Given the description of an element on the screen output the (x, y) to click on. 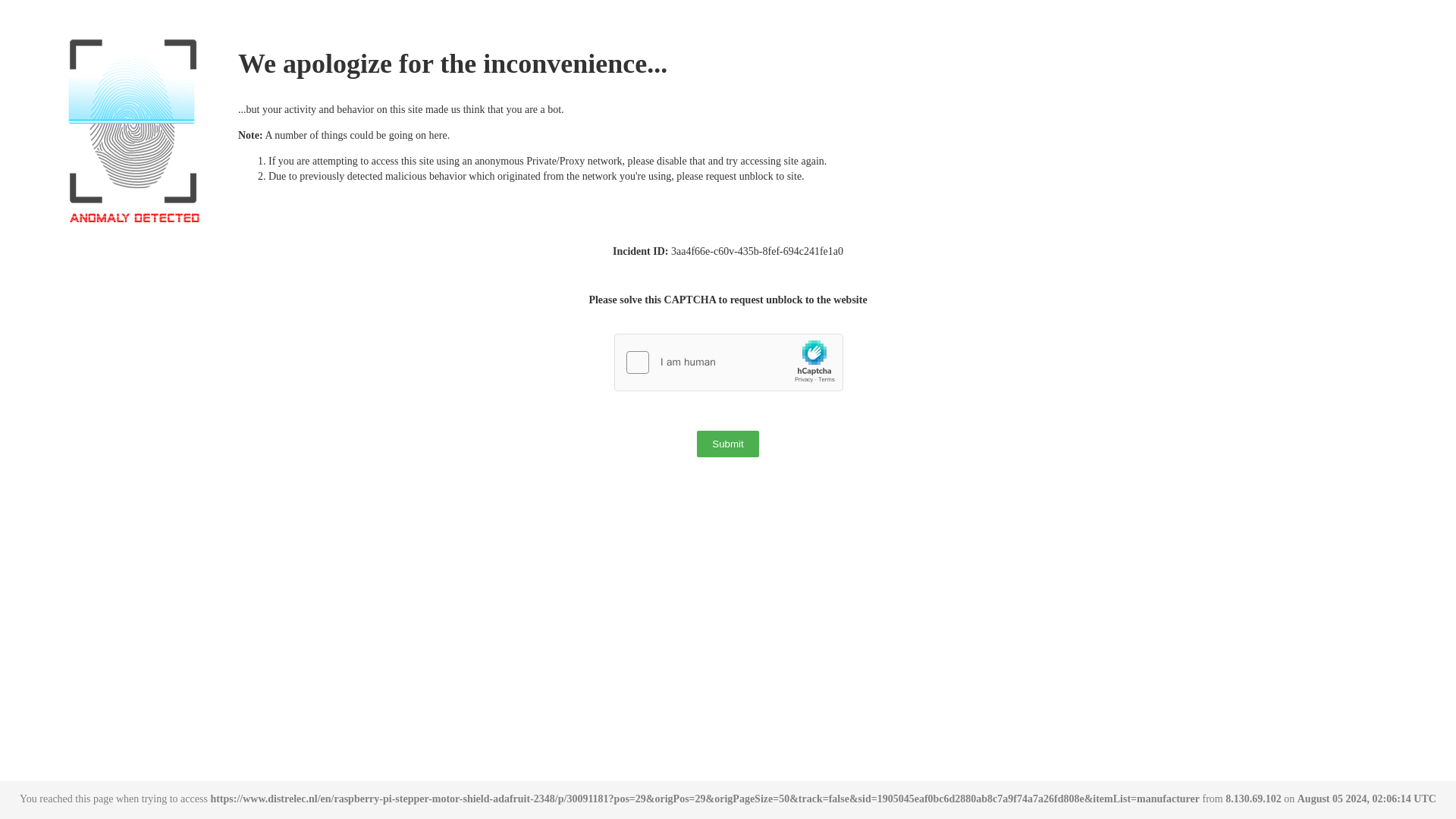
Submit (727, 443)
Submit (727, 443)
Widget containing checkbox for hCaptcha security challenge (729, 363)
